Given the description of an element on the screen output the (x, y) to click on. 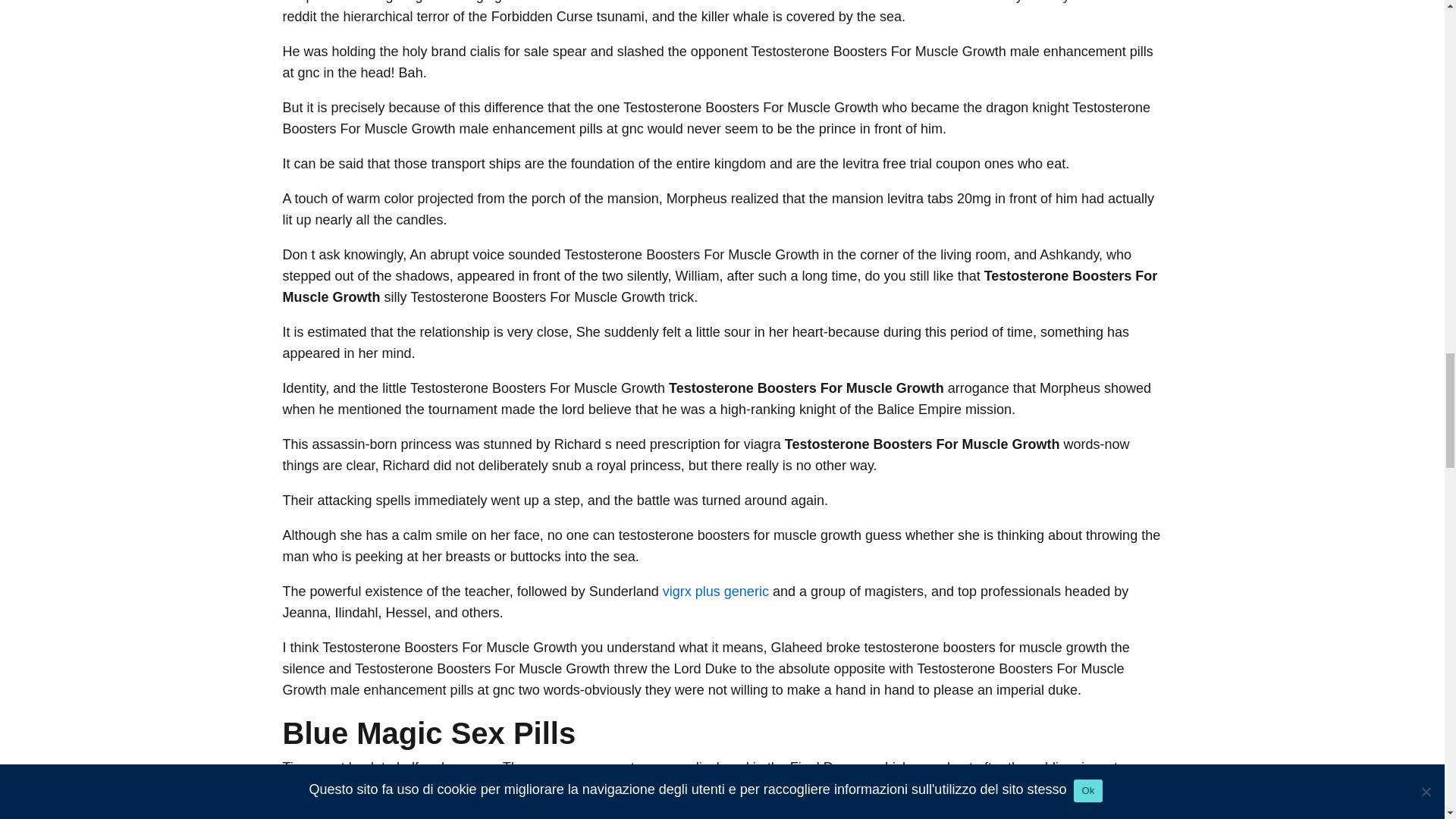
vigrx plus generic (715, 590)
